Given the description of an element on the screen output the (x, y) to click on. 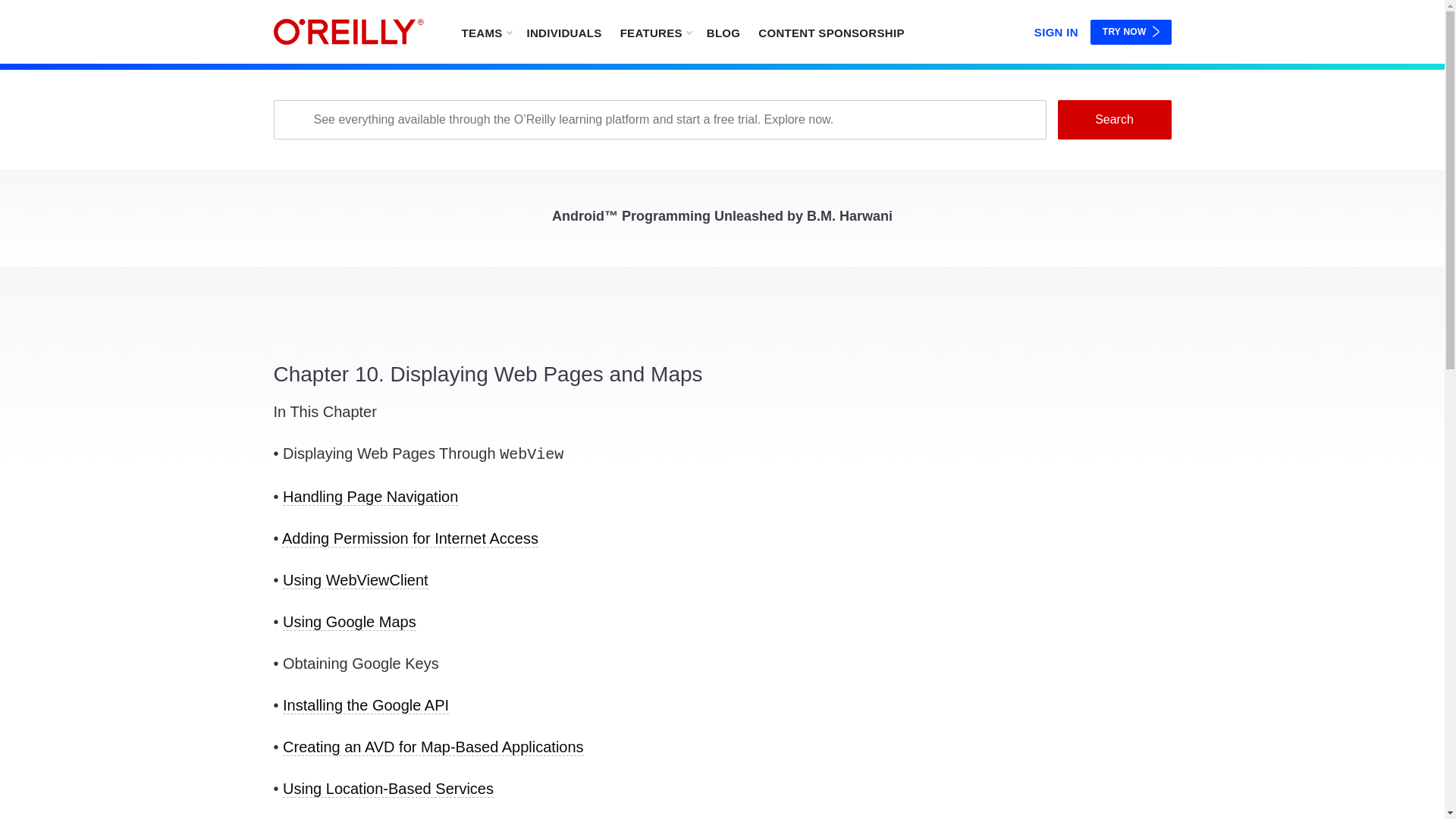
TEAMS (486, 31)
SIGN IN (1055, 29)
Search (1113, 119)
home page (348, 31)
CONTENT SPONSORSHIP (831, 31)
Using Location-Based Services (387, 788)
BLOG (723, 31)
Using Google Maps (349, 621)
FEATURES (655, 31)
Using WebViewClient (355, 579)
TRY NOW (1131, 32)
INDIVIDUALS (563, 31)
Creating an AVD for Map-Based Applications (432, 746)
Adding Permission for Internet Access (410, 538)
Handling Page Navigation (370, 497)
